Given the description of an element on the screen output the (x, y) to click on. 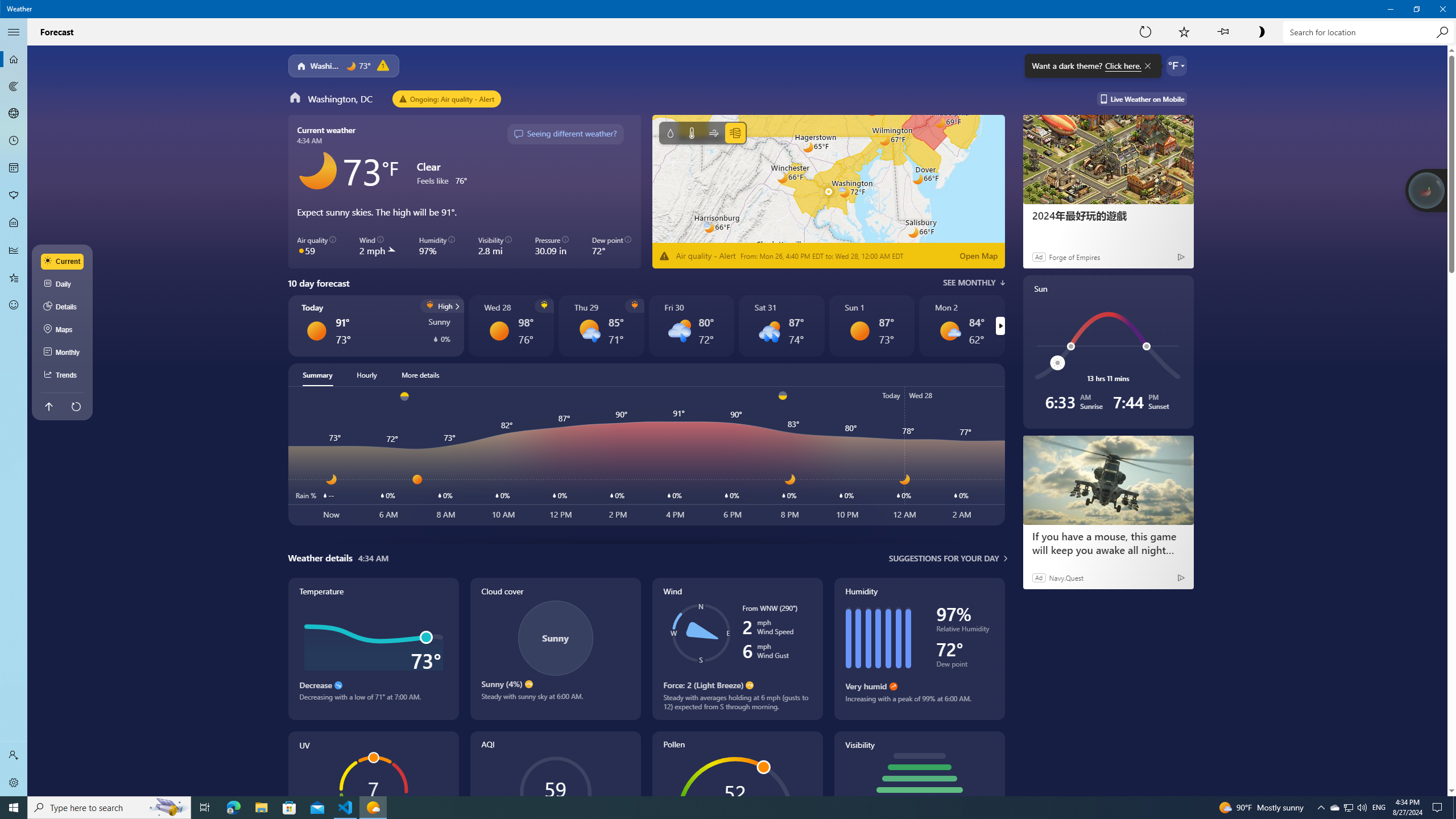
3D Maps - Not Selected (13, 113)
Minimize Weather (1390, 9)
Settings (13, 782)
Send Feedback - Not Selected (13, 304)
Pin (1222, 31)
Add to Favorites (1184, 31)
Refresh (1144, 31)
Hourly Forecast - Not Selected (13, 140)
Forecast - Not Selected (13, 58)
Turn on dark theme (1261, 31)
Send Feedback - Not Selected (13, 304)
Pollen - Not Selected (13, 195)
Search for location (1367, 32)
